Given the description of an element on the screen output the (x, y) to click on. 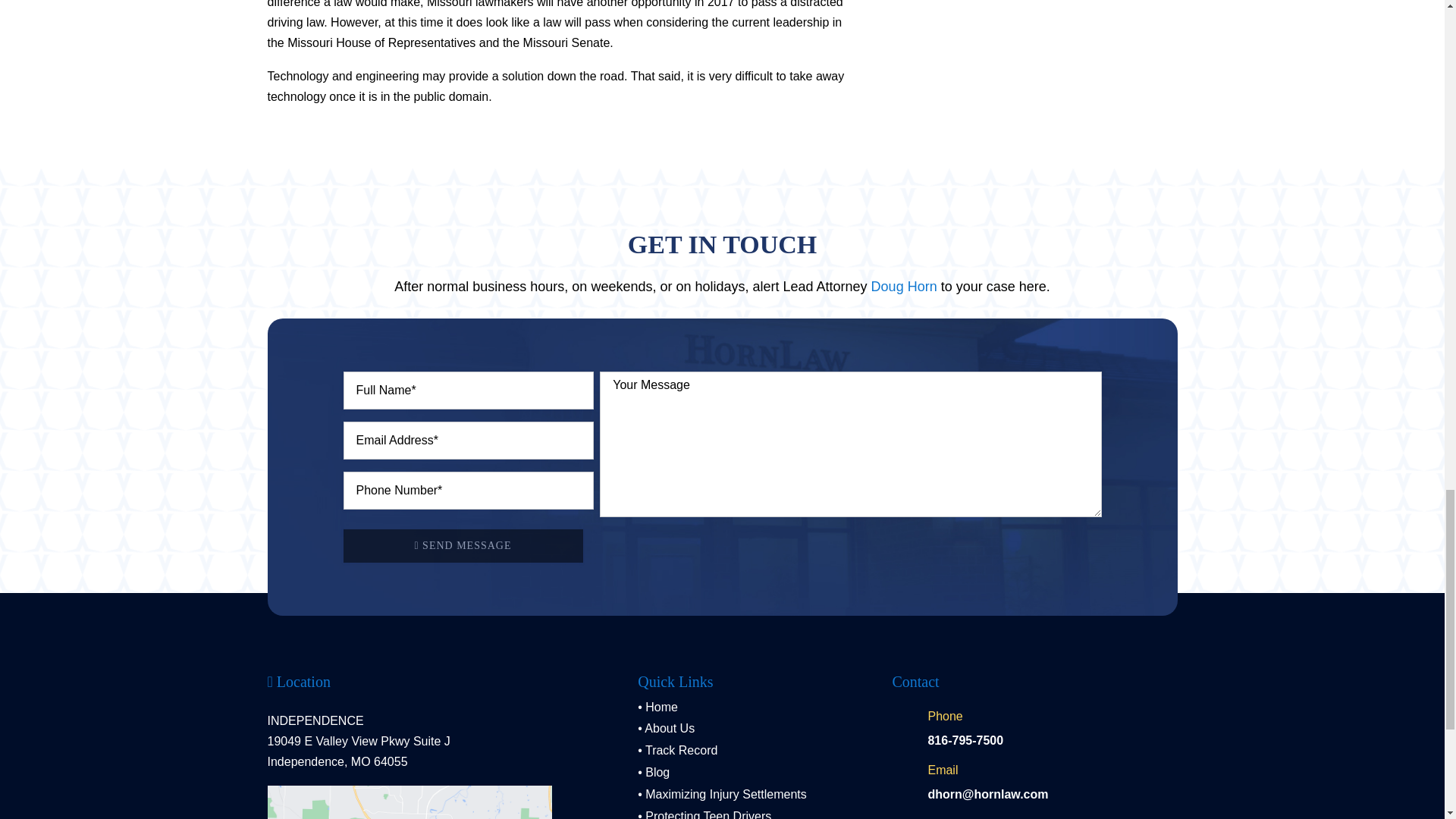
Independence (408, 802)
